Given the description of an element on the screen output the (x, y) to click on. 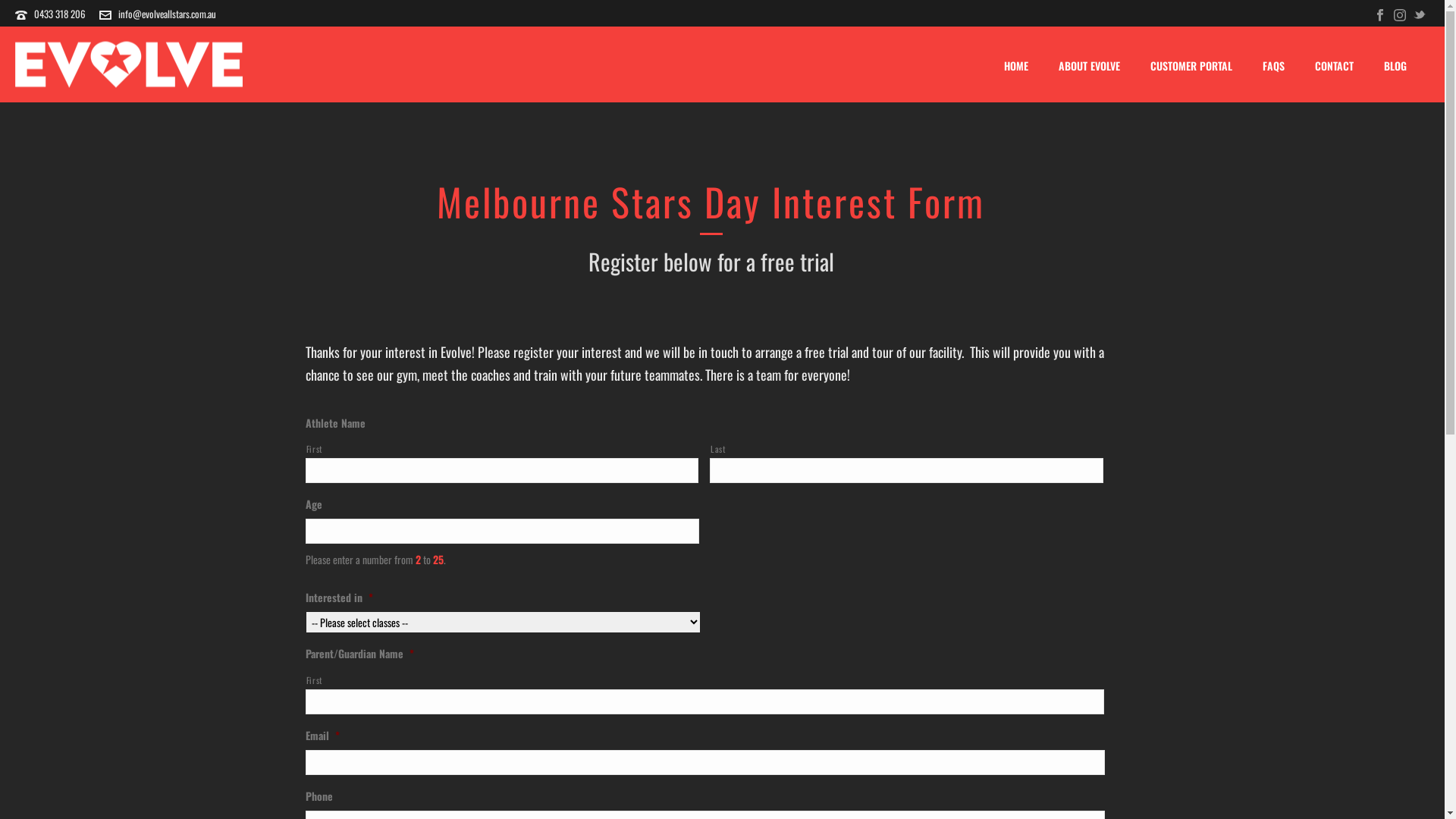
CUSTOMER PORTAL Element type: text (1191, 65)
CONTACT Element type: text (1333, 65)
0433 318 206 Element type: text (59, 13)
info@evolveallstars.com.au Element type: text (167, 13)
BLOG Element type: text (1394, 65)
FAQS Element type: text (1273, 65)
HOME Element type: text (1015, 65)
ABOUT EVOLVE Element type: text (1089, 65)
Cheer Your Heart Out Element type: hover (128, 63)
